Given the description of an element on the screen output the (x, y) to click on. 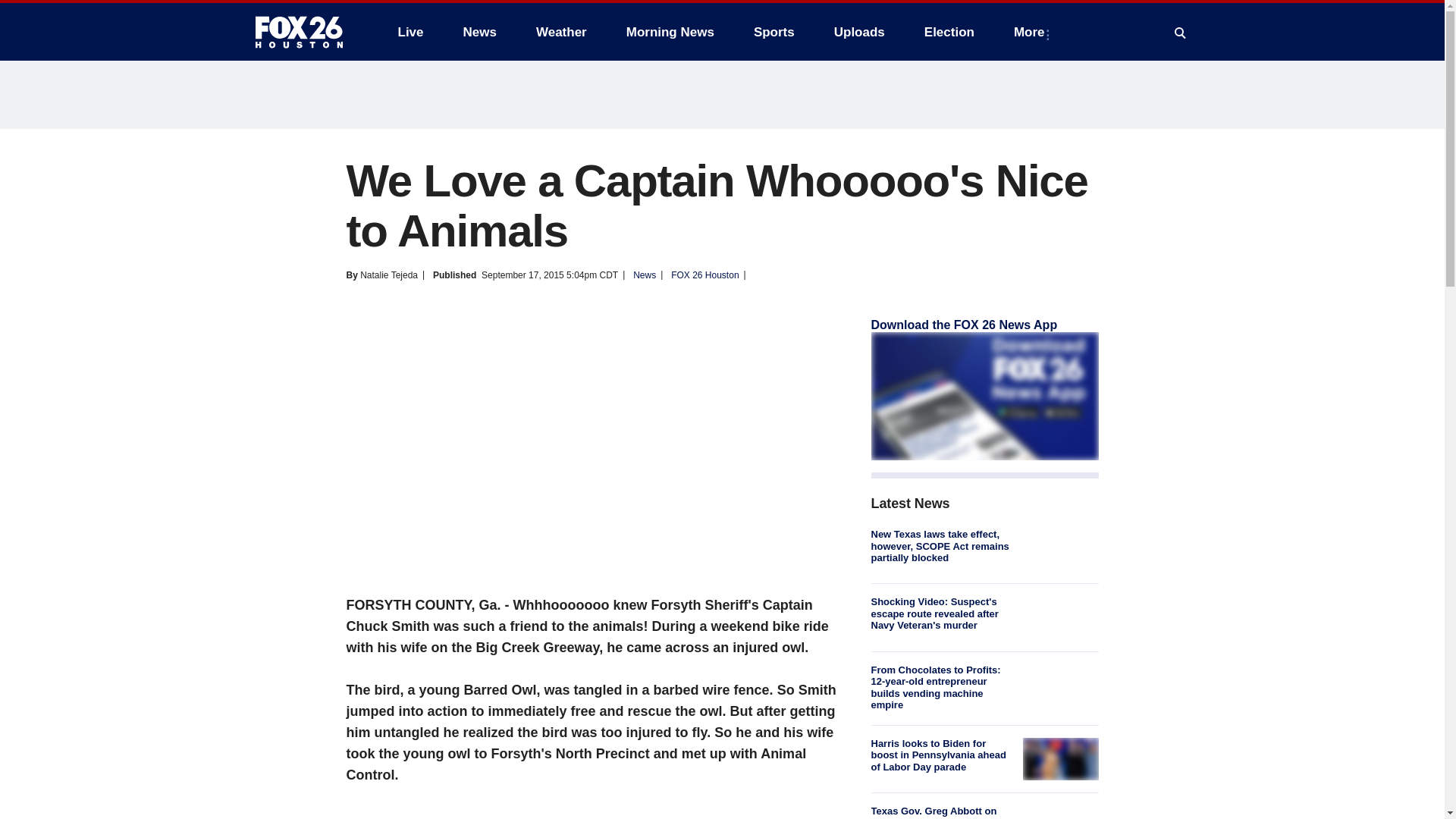
Morning News (670, 32)
Live (410, 32)
News (479, 32)
Weather (561, 32)
Uploads (859, 32)
Sports (773, 32)
More (1031, 32)
Election (949, 32)
